Given the description of an element on the screen output the (x, y) to click on. 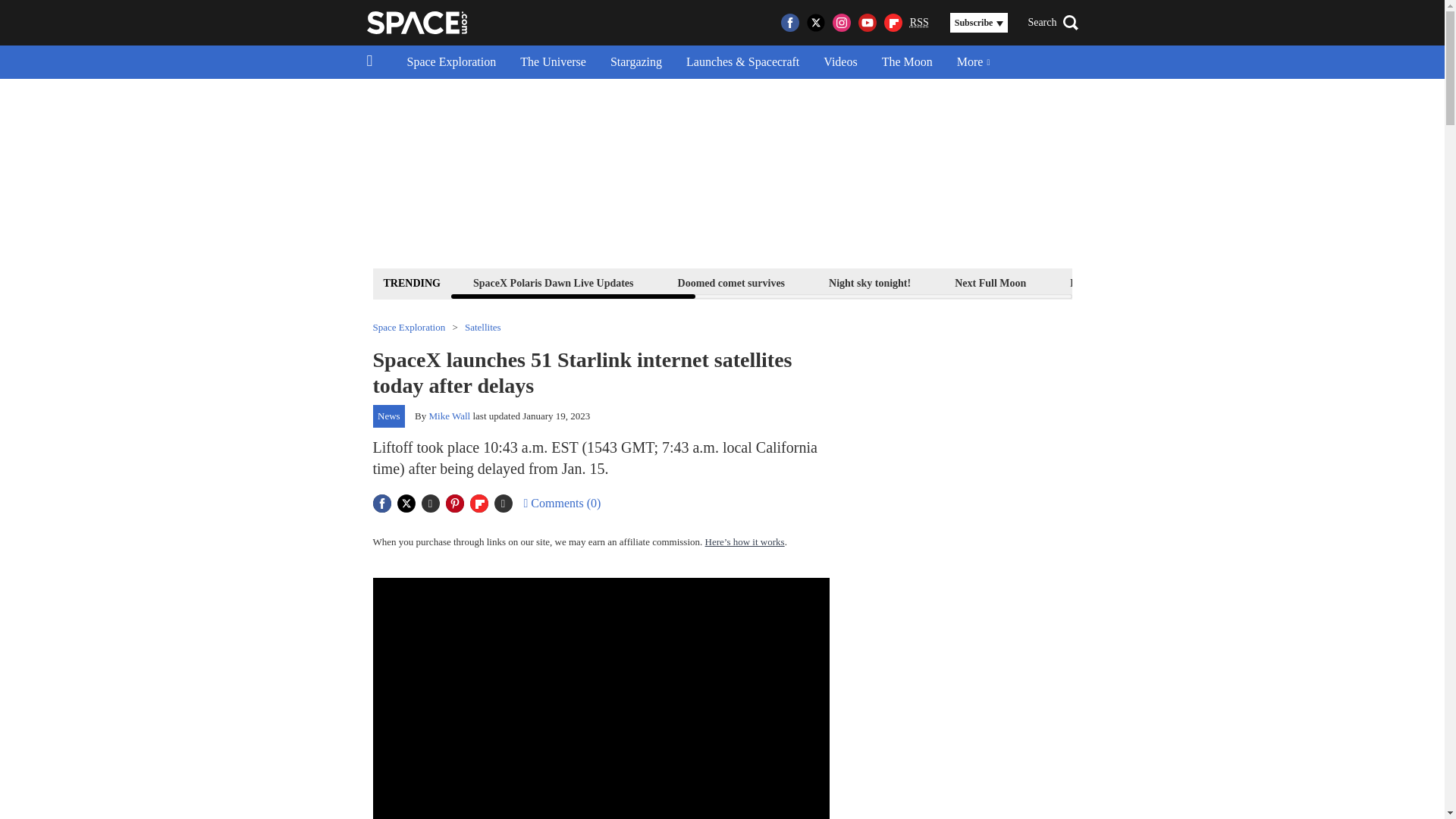
Really Simple Syndication (919, 21)
Stargazing (636, 61)
Space Exploration (451, 61)
The Universe (553, 61)
Doomed comet survives (731, 282)
Next Full Moon (989, 282)
Best Binoculars (1218, 282)
Best Telescopes (1104, 282)
The Moon (906, 61)
RSS (919, 22)
